Given the description of an element on the screen output the (x, y) to click on. 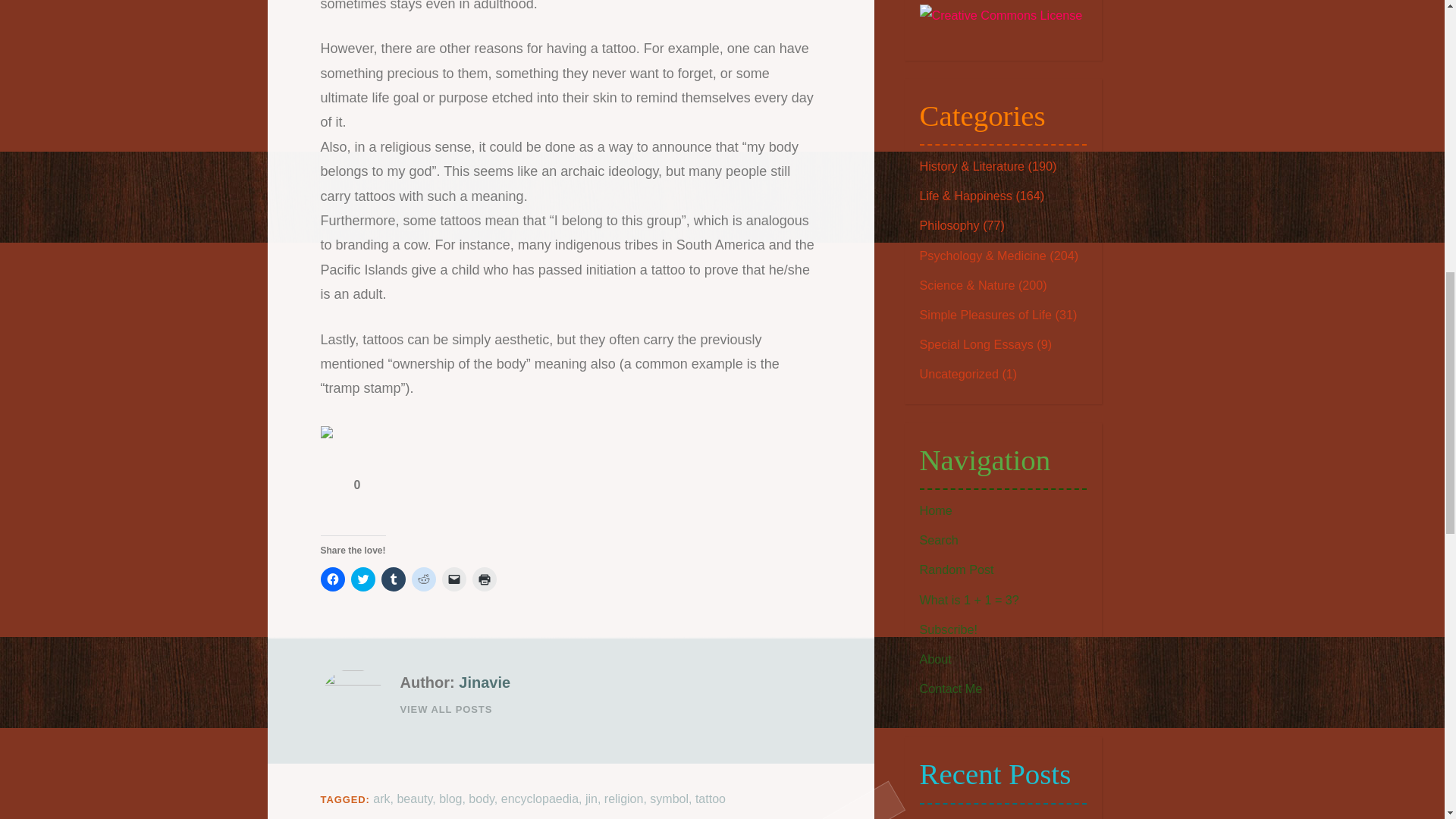
Click to share on Tumblr (392, 579)
Click to share on Reddit (422, 579)
Click to share on Facebook (331, 579)
Jinavie (484, 682)
tattoo (710, 798)
symbol (668, 798)
religion (623, 798)
Click to print (483, 579)
body (481, 798)
Click to share on Twitter (362, 579)
